Given the description of an element on the screen output the (x, y) to click on. 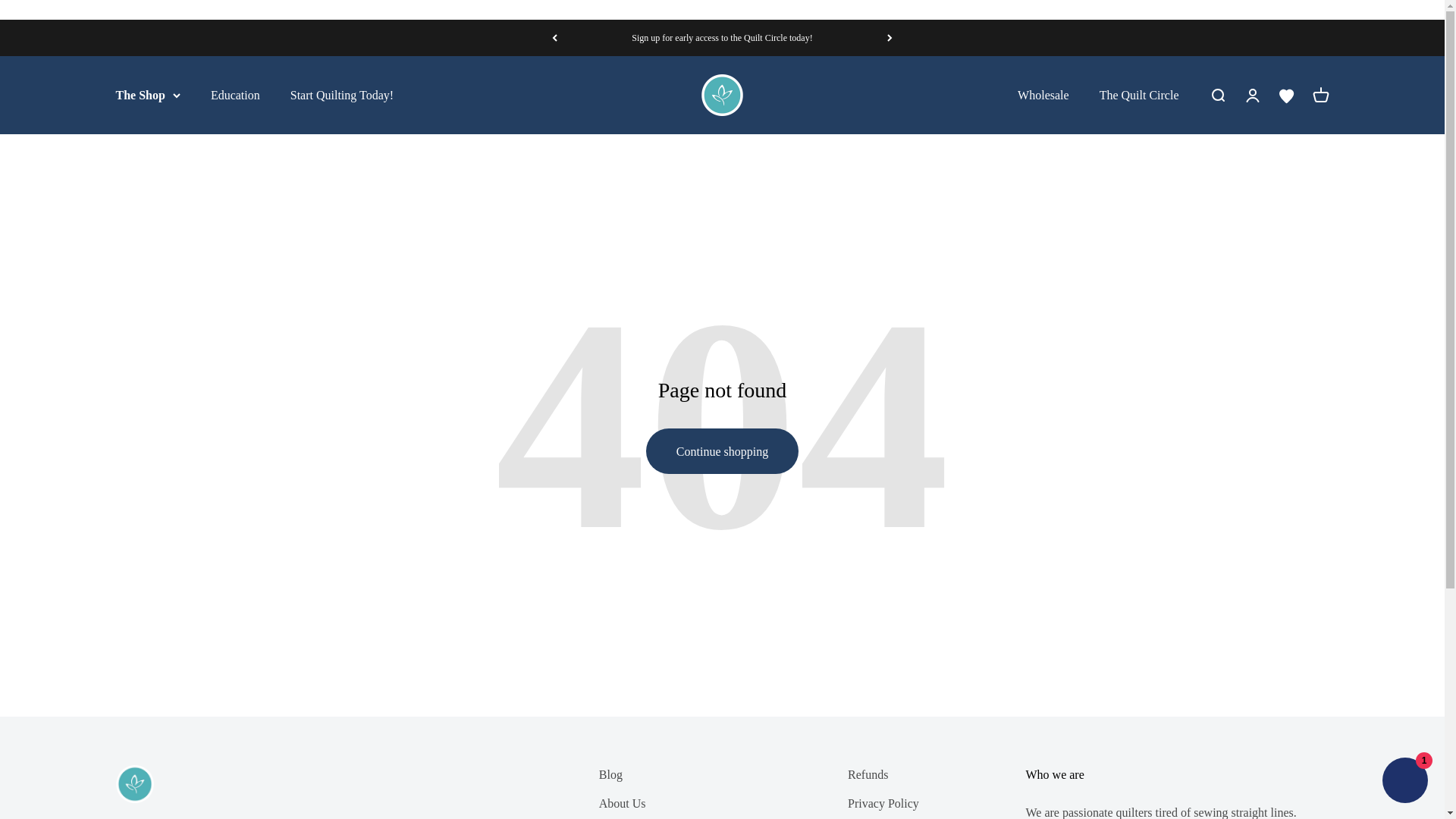
Open search (1319, 94)
Continue shopping (1216, 94)
Sign up for early access to the Quilt Circle today! (721, 451)
Education (721, 37)
Start Quilting Today! (235, 94)
Sew Kind of Wonderful (341, 94)
Open account page (721, 95)
The Quilt Circle (1251, 94)
Wholesale (1139, 94)
Shopify online store chat (1042, 94)
